Given the description of an element on the screen output the (x, y) to click on. 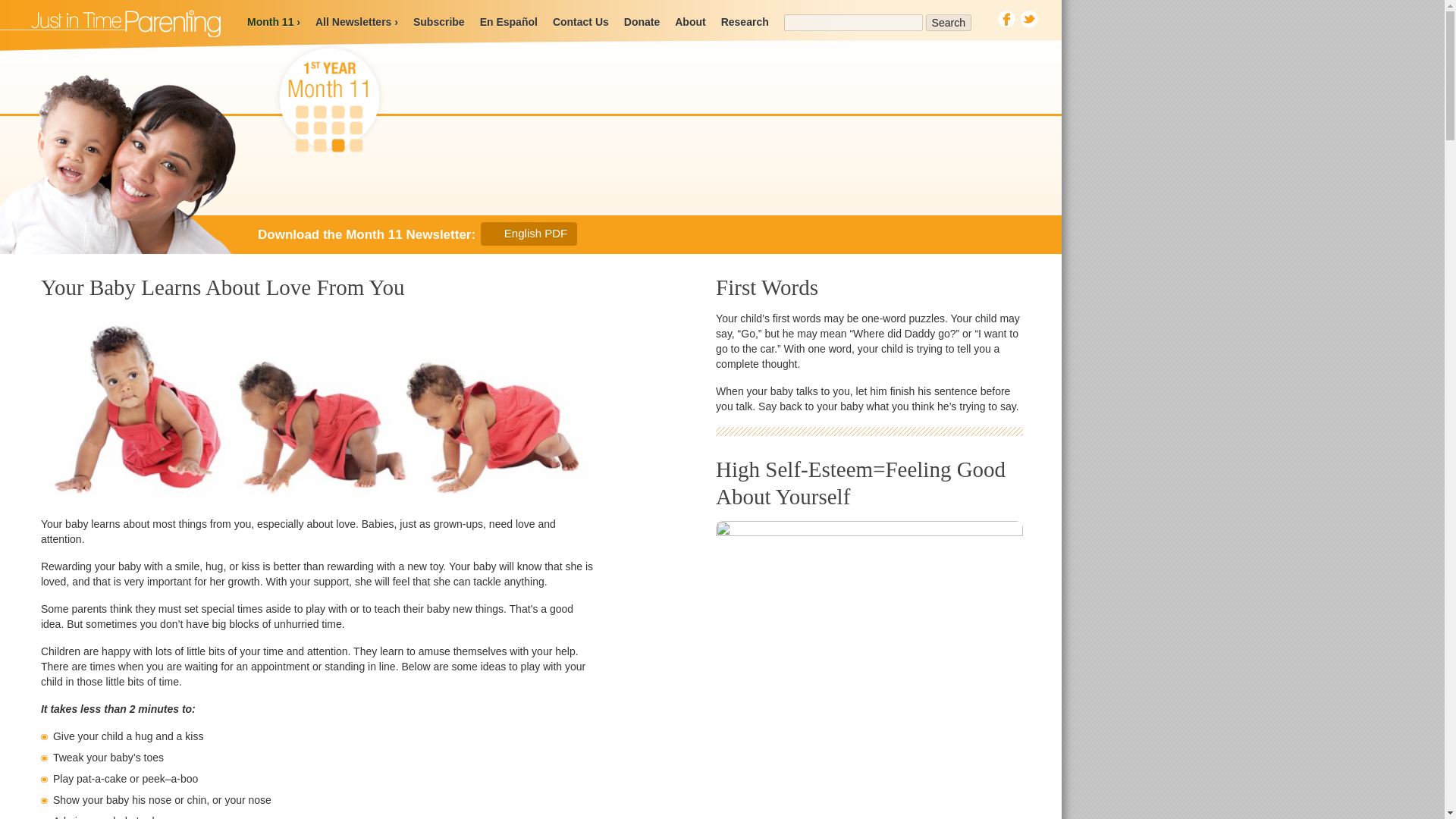
Search (948, 22)
Contact Us (580, 21)
Research (744, 21)
Your Baby Learns About Love From You (222, 287)
About (689, 21)
Just in Time Parenting (110, 22)
Donate (641, 21)
English PDF (528, 233)
Facebook (1005, 18)
Twitter (1029, 18)
